Given the description of an element on the screen output the (x, y) to click on. 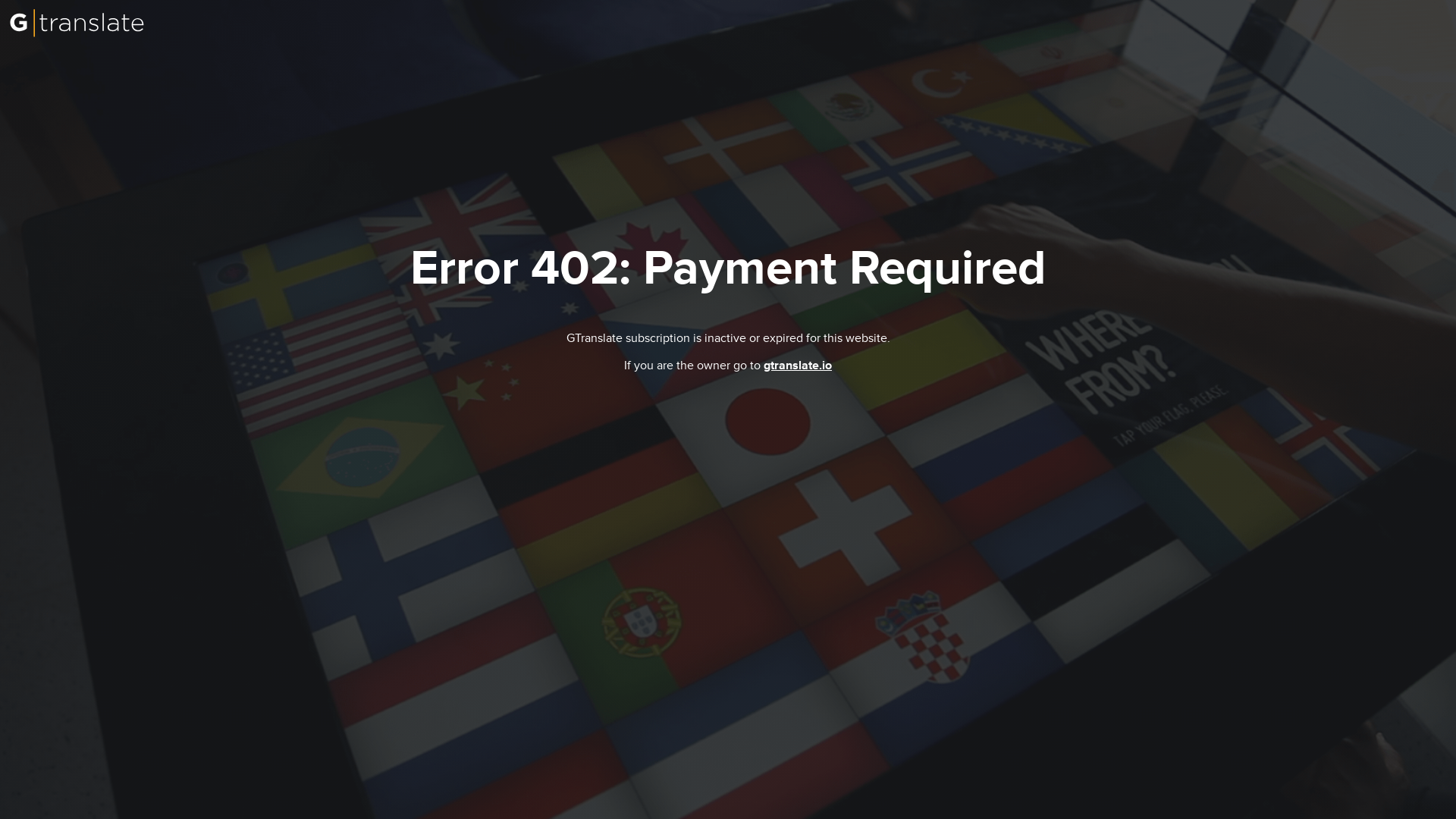
gtranslate.io Element type: text (797, 365)
